Given the description of an element on the screen output the (x, y) to click on. 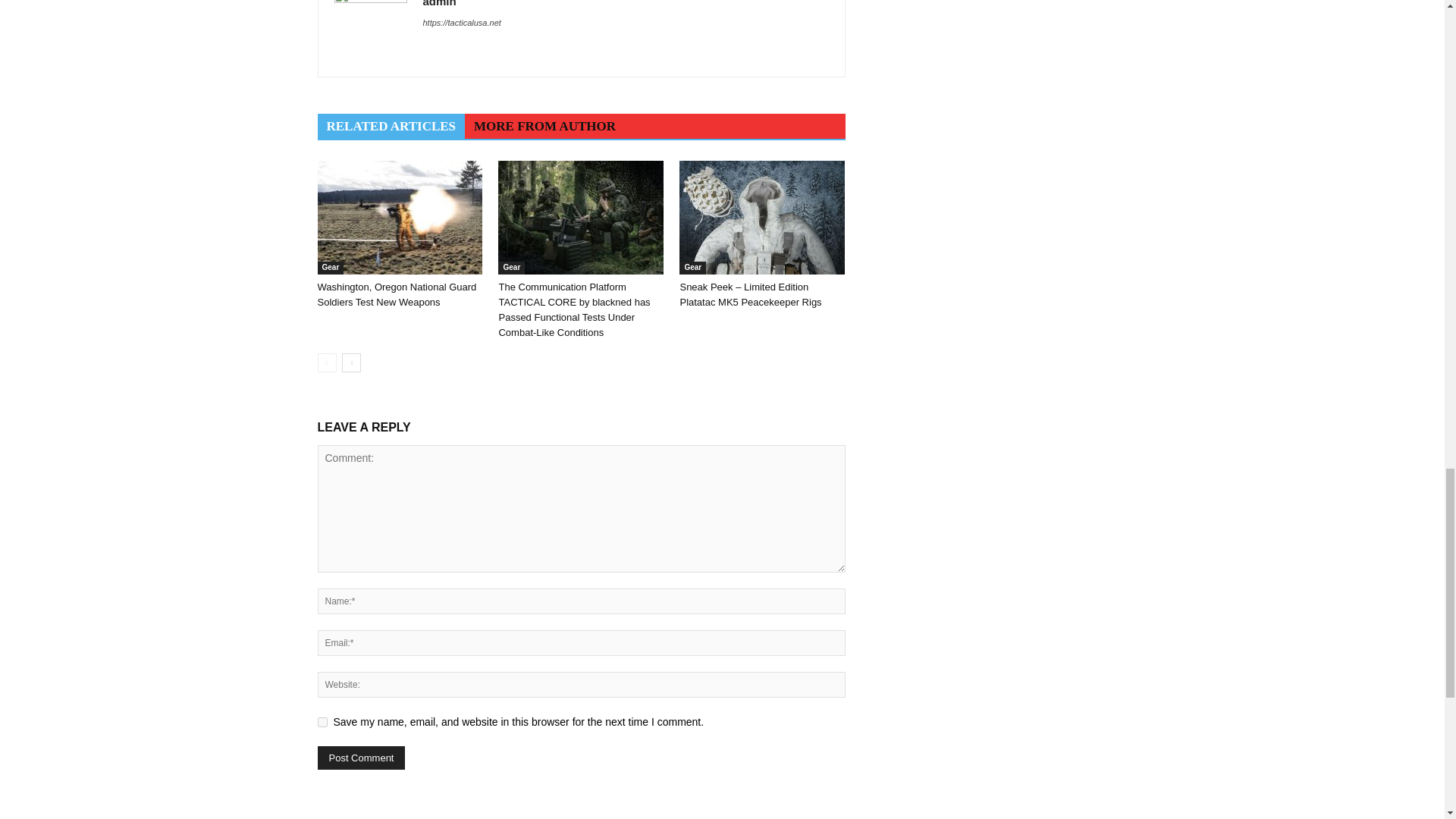
Washington, Oregon National Guard Soldiers Test New Weapons (396, 294)
Washington, Oregon National Guard Soldiers Test New Weapons (399, 217)
yes (321, 722)
Post Comment (360, 757)
